Given the description of an element on the screen output the (x, y) to click on. 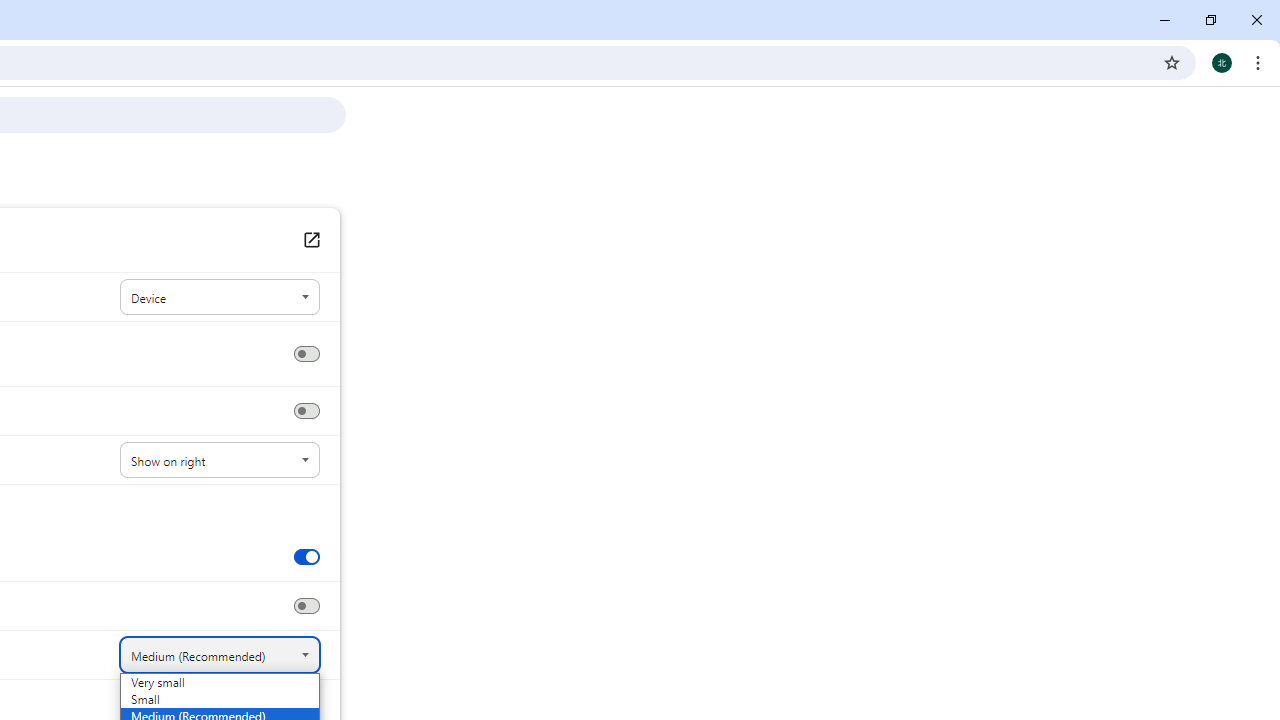
Show tab preview images (306, 556)
